Given the description of an element on the screen output the (x, y) to click on. 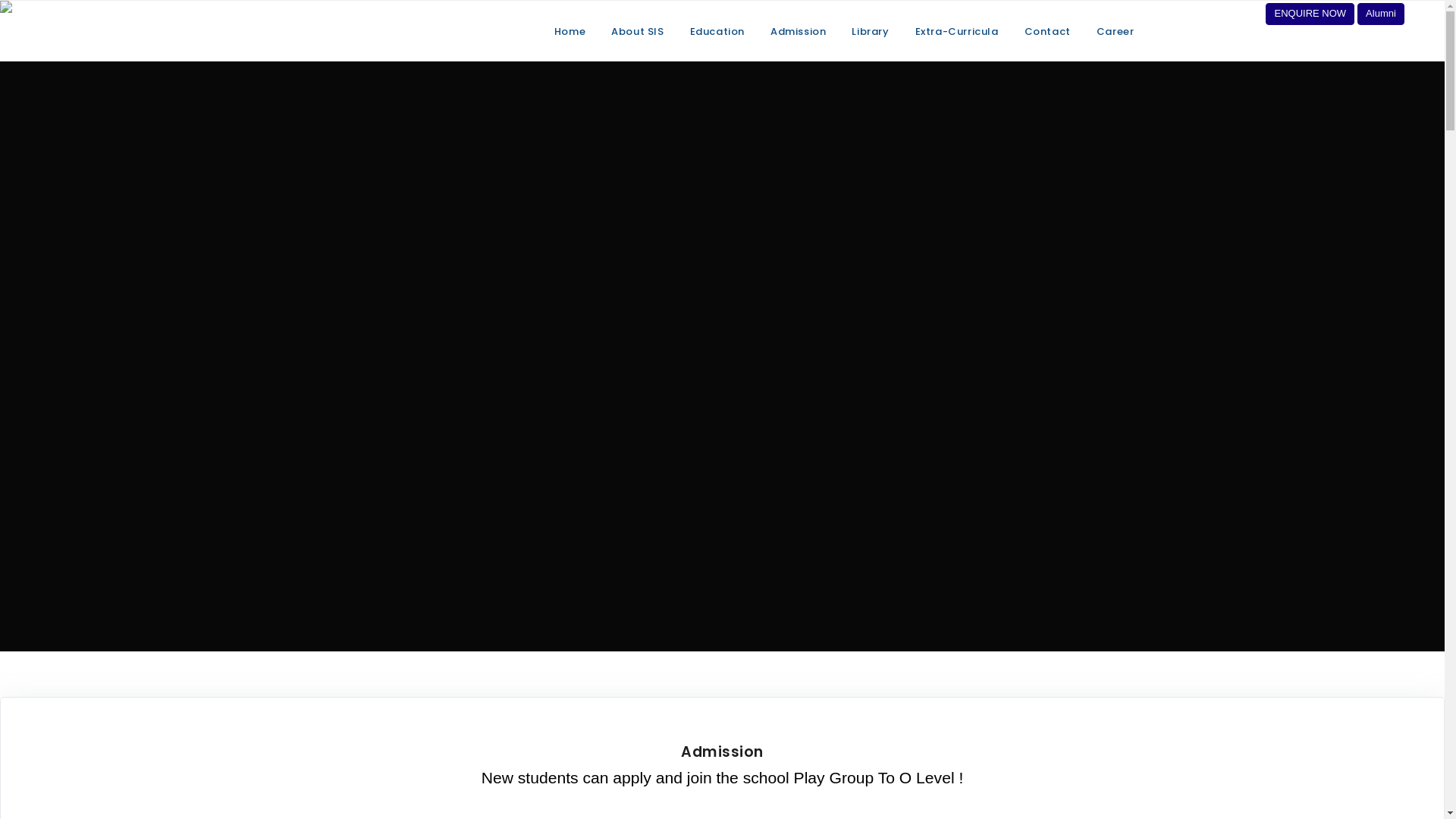
Contact Element type: text (1047, 30)
About SIS Element type: text (637, 30)
Home Element type: text (569, 30)
Alumni Element type: text (1380, 14)
Call +880 1760292451, Element type: text (1202, 5)
Library Element type: text (869, 30)
Admission Element type: text (797, 30)
Login Element type: text (1425, 12)
ENQUIRE NOW Element type: text (1309, 14)
Education Element type: text (717, 30)
Extra-Curricula Element type: text (956, 30)
Career Element type: text (1115, 30)
+880 1678040330 Element type: text (1202, 12)
